Given the description of an element on the screen output the (x, y) to click on. 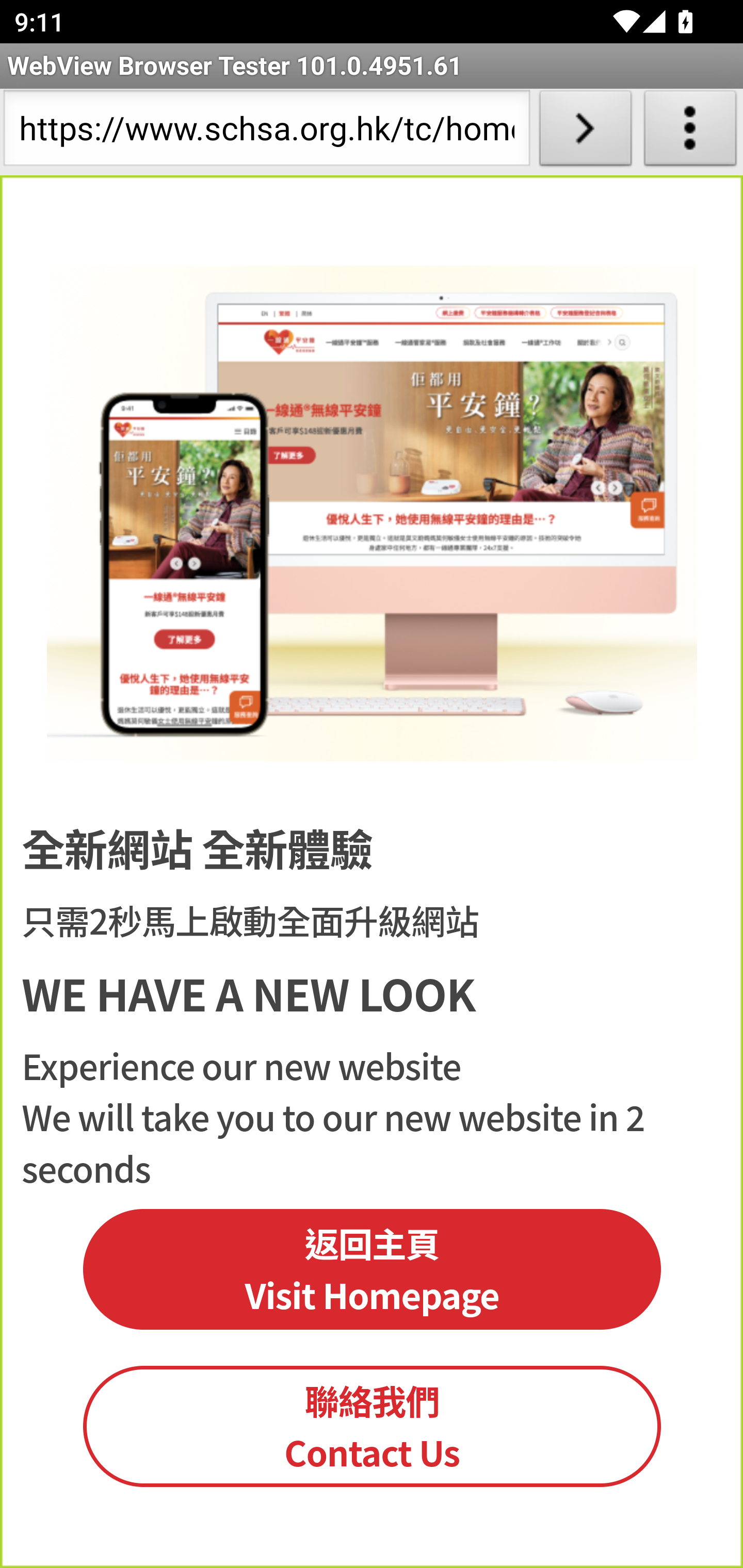
Load URL (585, 132)
About WebView (690, 132)
返回主頁 Visit Homepage 返回主頁 Visit Homepage (372, 1269)
聯絡我們 Contact Us 聯絡我們 Contact Us (372, 1426)
